Given the description of an element on the screen output the (x, y) to click on. 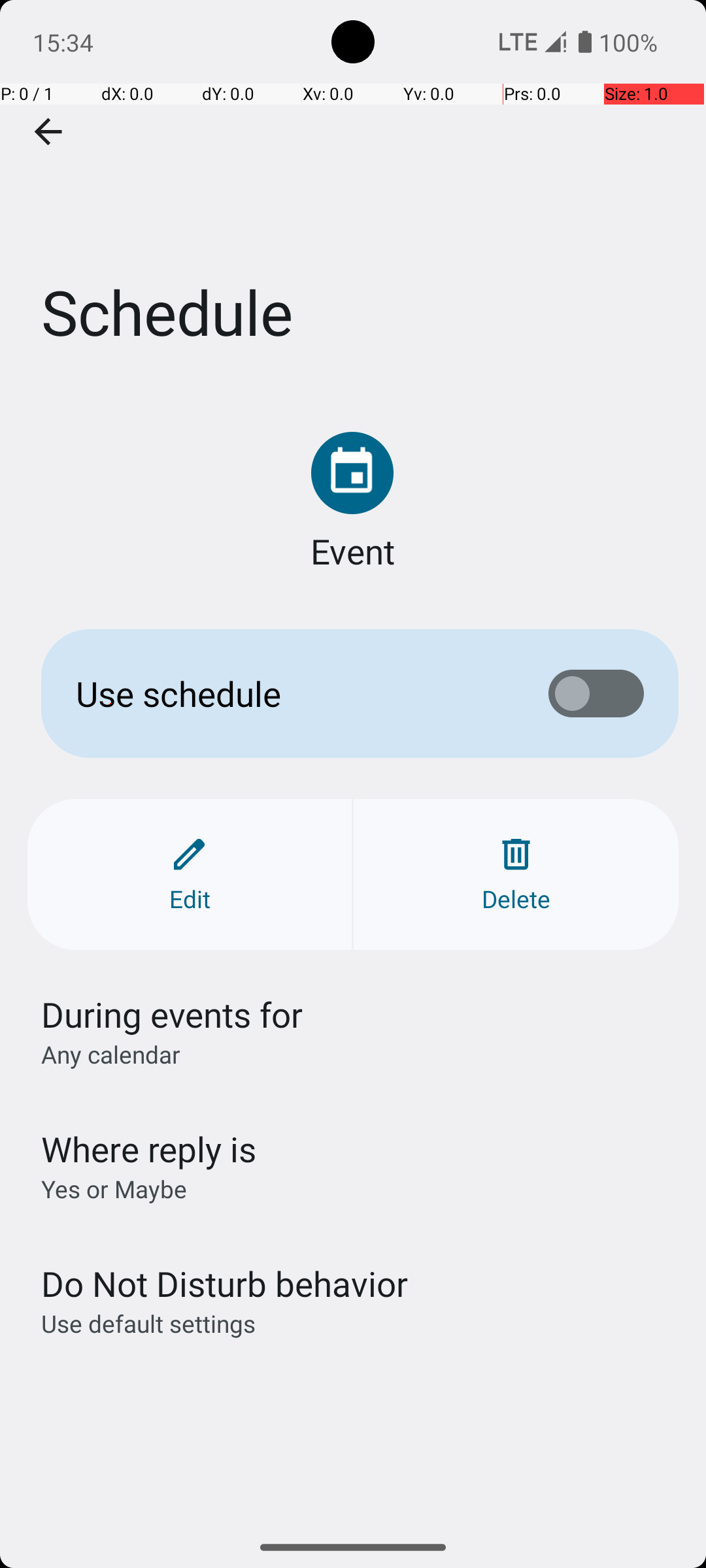
Schedule Element type: android.widget.FrameLayout (353, 195)
Use schedule Element type: android.widget.TextView (291, 693)
During events for Element type: android.widget.TextView (172, 1014)
Any calendar Element type: android.widget.TextView (110, 1053)
Where reply is Element type: android.widget.TextView (148, 1148)
Yes or Maybe Element type: android.widget.TextView (113, 1188)
Do Not Disturb behavior Element type: android.widget.TextView (224, 1283)
Use default settings Element type: android.widget.TextView (148, 1322)
